Given the description of an element on the screen output the (x, y) to click on. 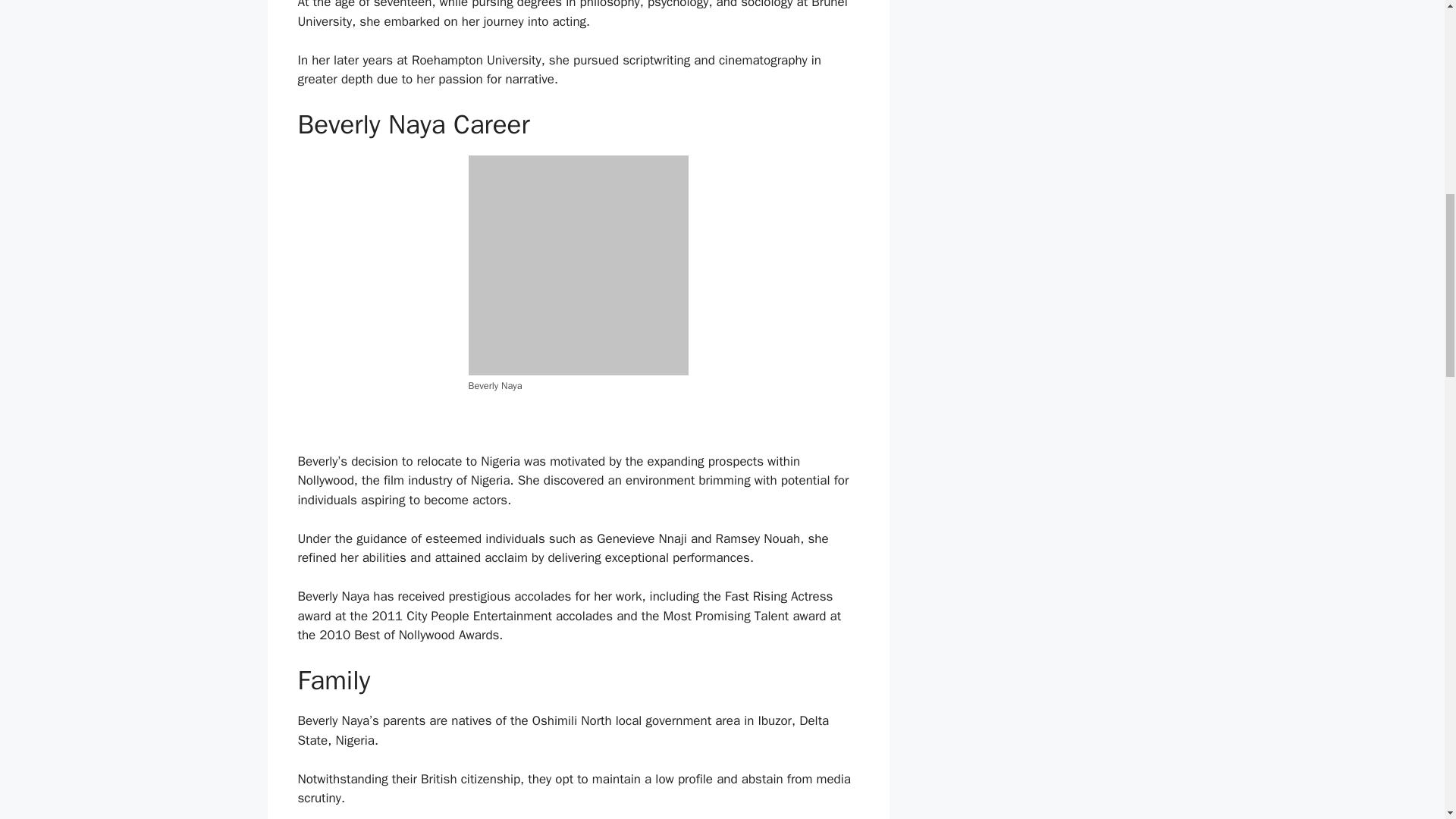
Beverly Naya Biography: Age, Movies, Instagram, Net Worth (578, 265)
Scroll back to top (1406, 720)
